Given the description of an element on the screen output the (x, y) to click on. 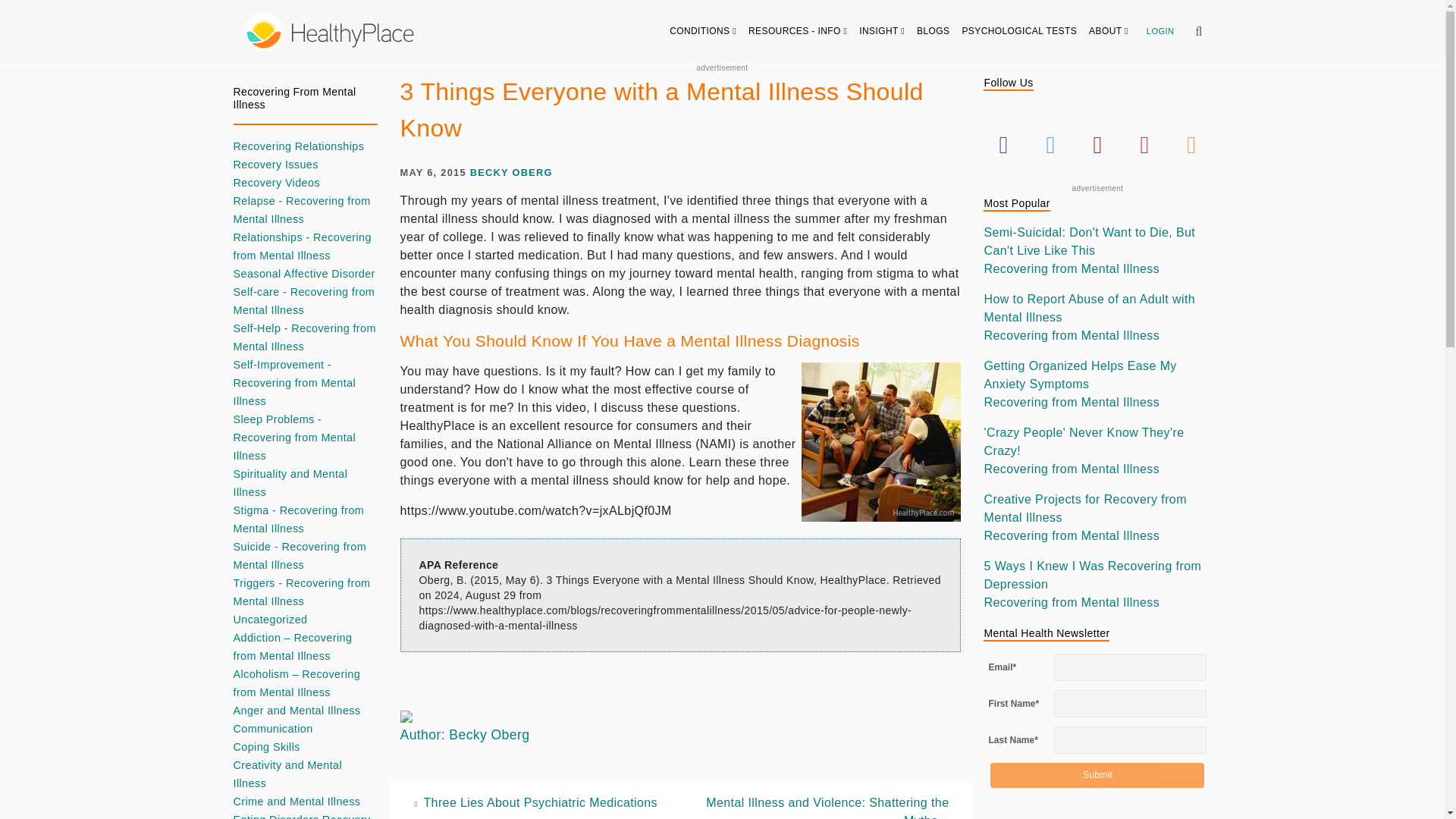
3 Things Everyone with a Mental Illness Should Know (881, 441)
CONDITIONS (702, 31)
INSIGHT (882, 31)
Submit (1097, 774)
RESOURCES - INFO (797, 31)
